Given the description of an element on the screen output the (x, y) to click on. 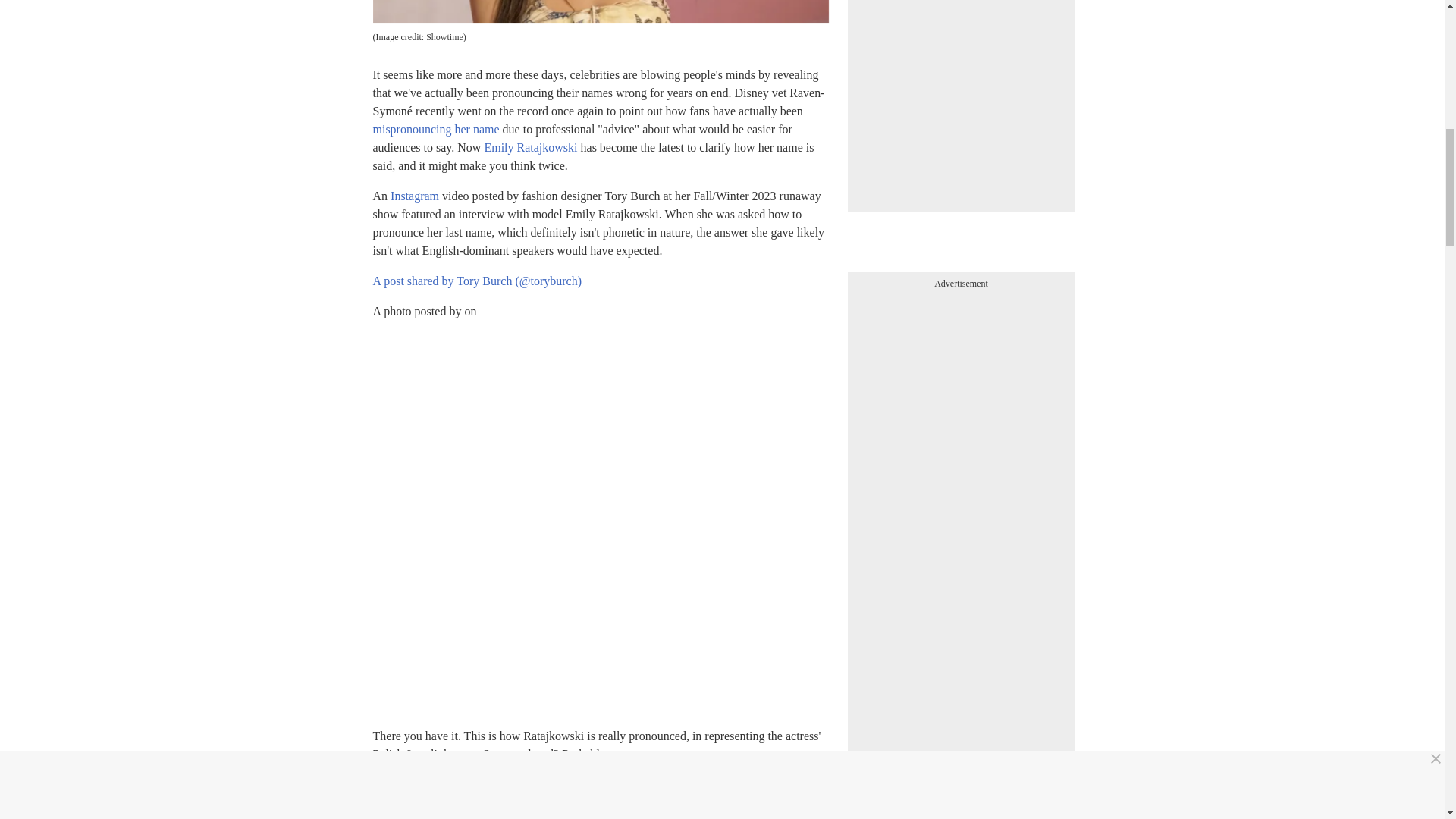
32 Best Comic Book Movies That Aren't Marvel Or DC (961, 810)
